Given the description of an element on the screen output the (x, y) to click on. 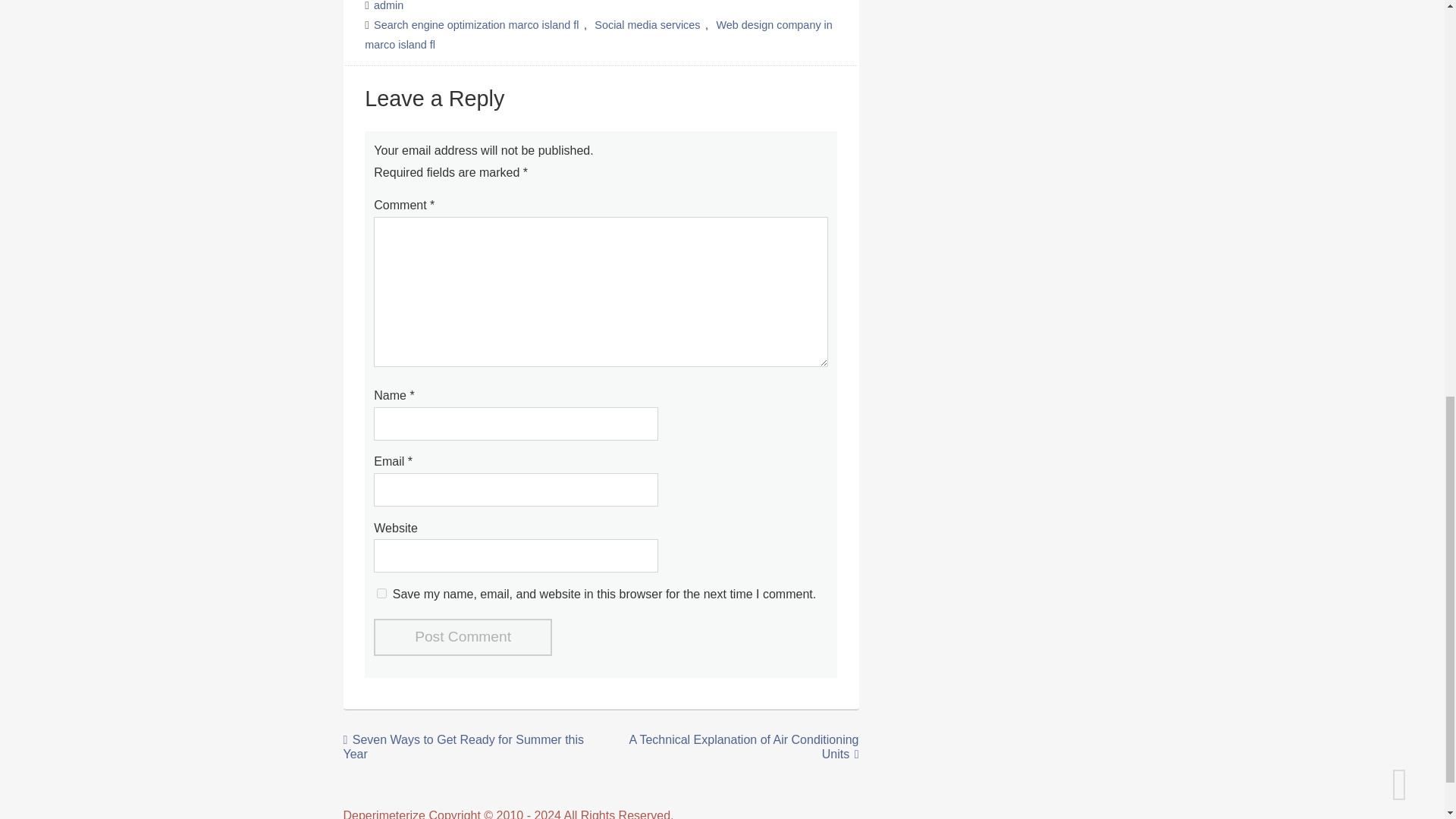
admin (389, 5)
Post Comment (462, 637)
Social media services (646, 24)
Seven Ways to Get Ready for Summer this Year (462, 746)
A Technical Explanation of Air Conditioning Units (743, 746)
Post Comment (462, 637)
Deperimeterize (383, 814)
Web design company in marco island fl (598, 34)
Search engine optimization marco island fl (476, 24)
yes (382, 593)
